Given the description of an element on the screen output the (x, y) to click on. 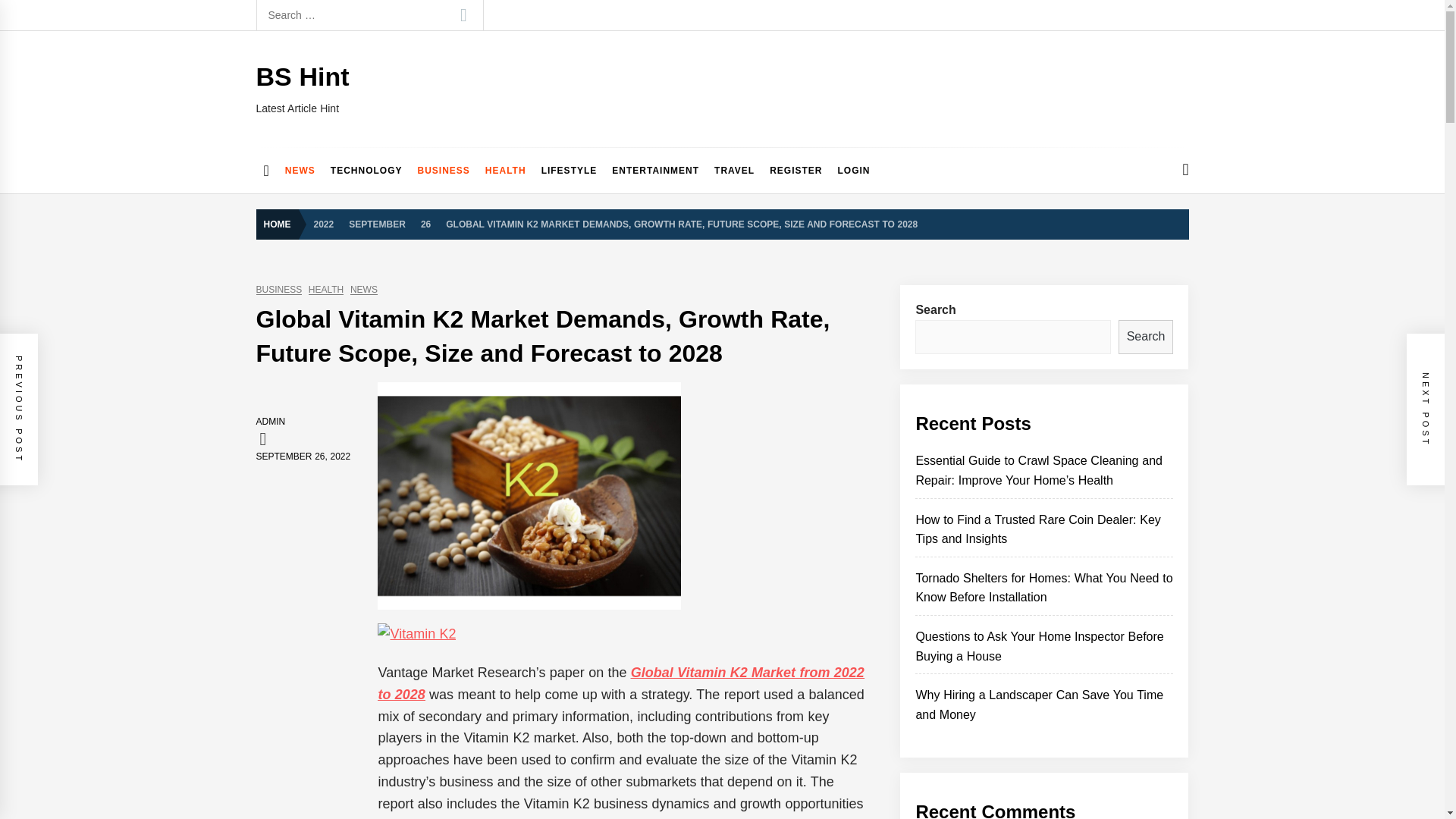
NEWS (300, 170)
26 (425, 223)
Search (462, 15)
LIFESTYLE (569, 170)
SEPTEMBER (376, 223)
Global Vitamin K2 Market from 2022 to 2028 (620, 683)
LOGIN (853, 170)
TRAVEL (733, 170)
REGISTER (795, 170)
2022 (323, 223)
